Given the description of an element on the screen output the (x, y) to click on. 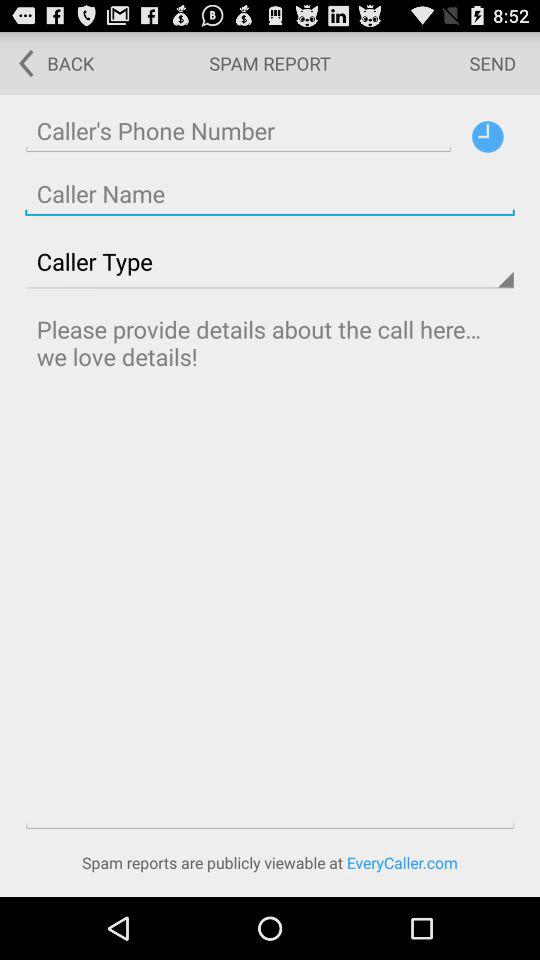
enter text (270, 568)
